Given the description of an element on the screen output the (x, y) to click on. 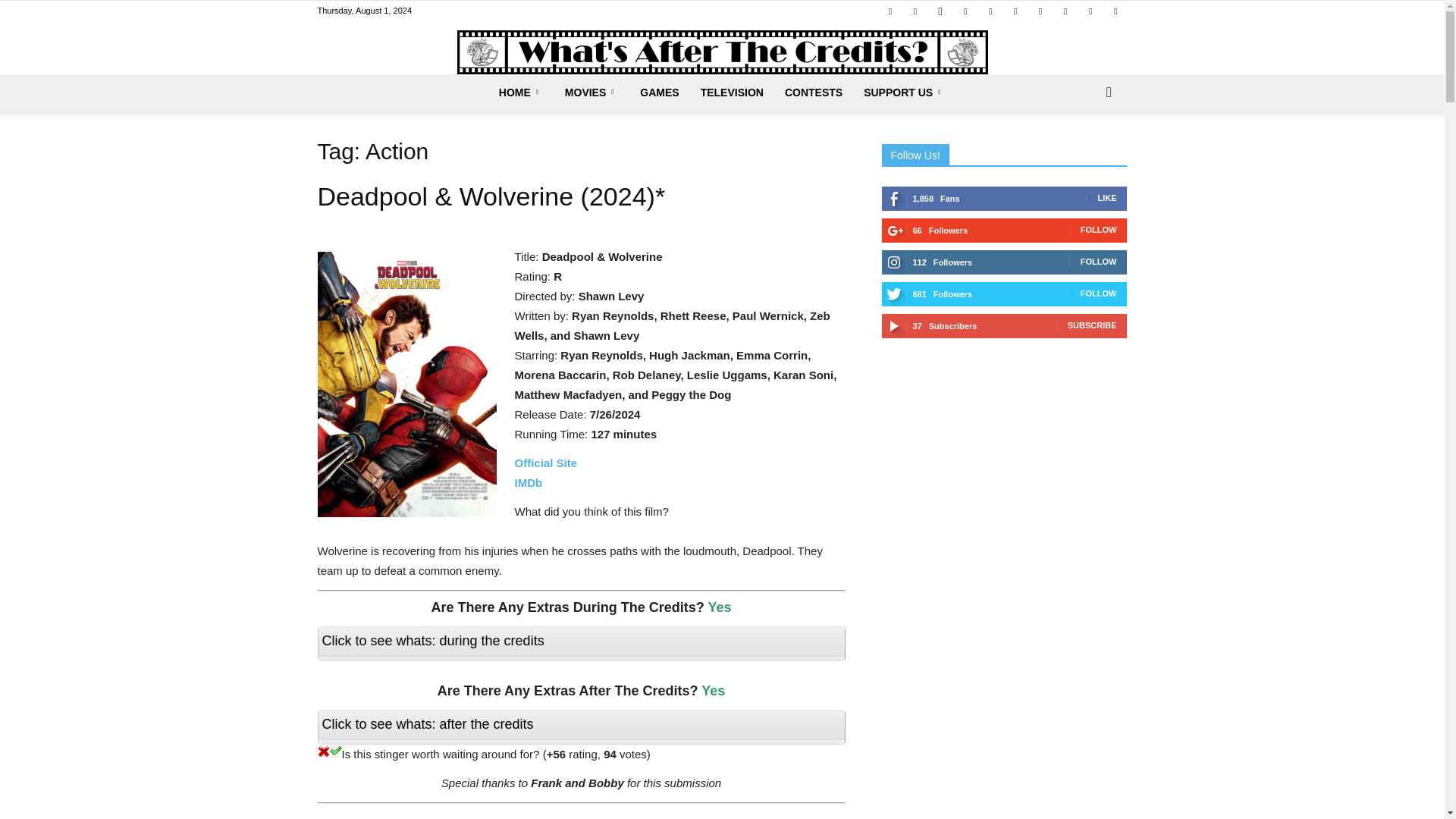
Myspace (964, 10)
Facebook (890, 10)
Paypal (989, 10)
Instagram (940, 10)
